Given the description of an element on the screen output the (x, y) to click on. 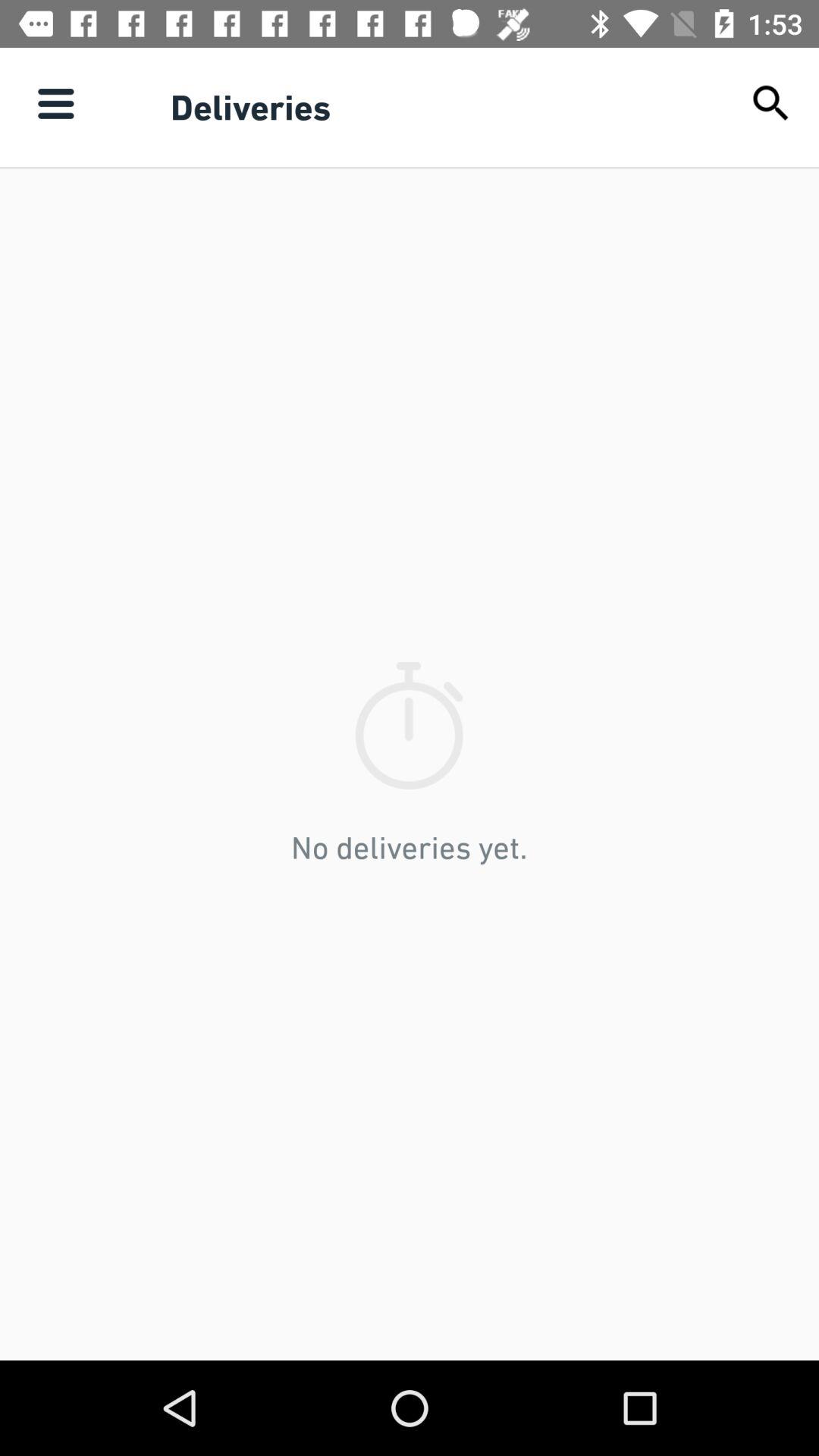
click the item at the top right corner (771, 103)
